Given the description of an element on the screen output the (x, y) to click on. 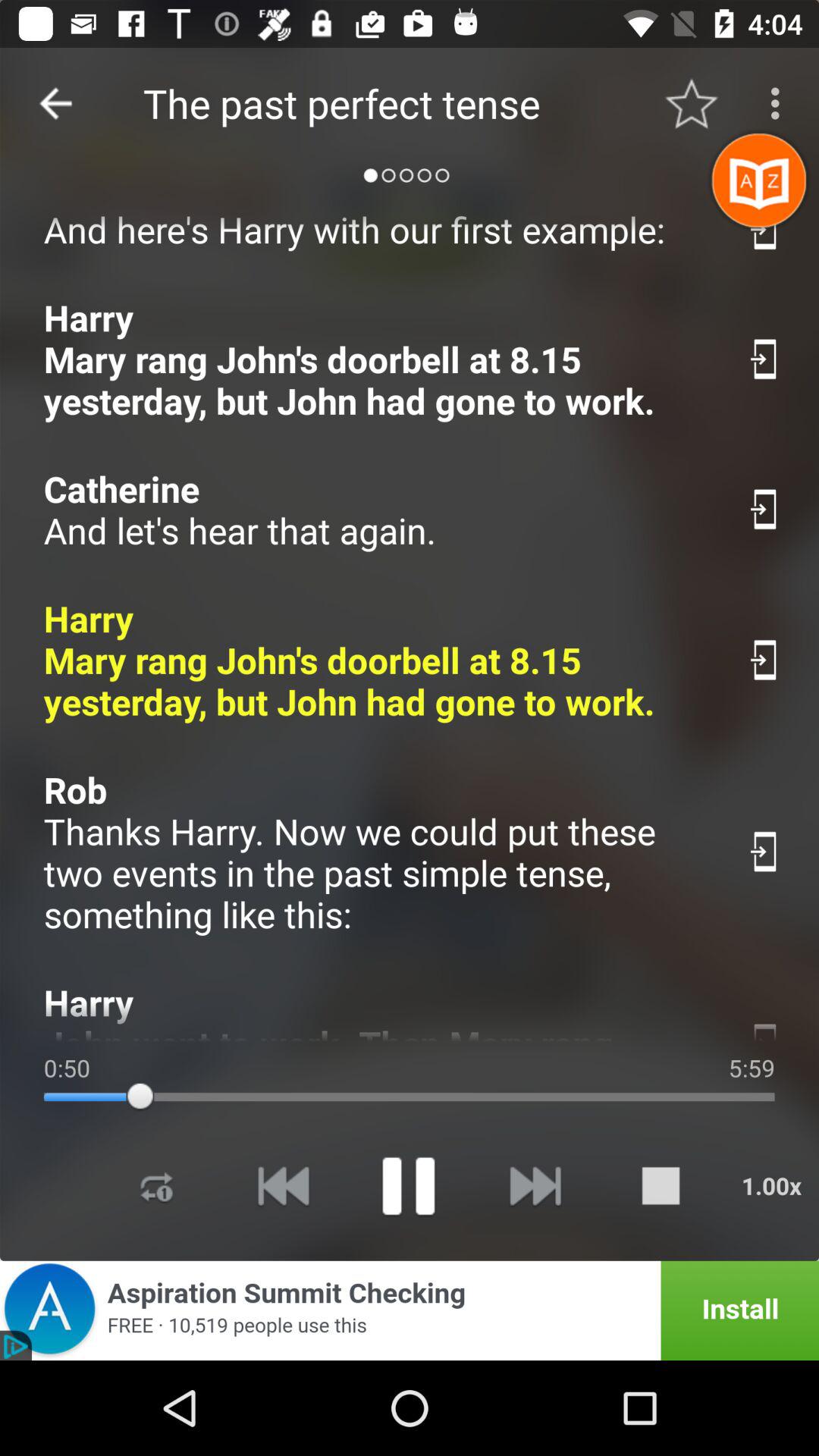
tap the catherine and let item (379, 509)
